Given the description of an element on the screen output the (x, y) to click on. 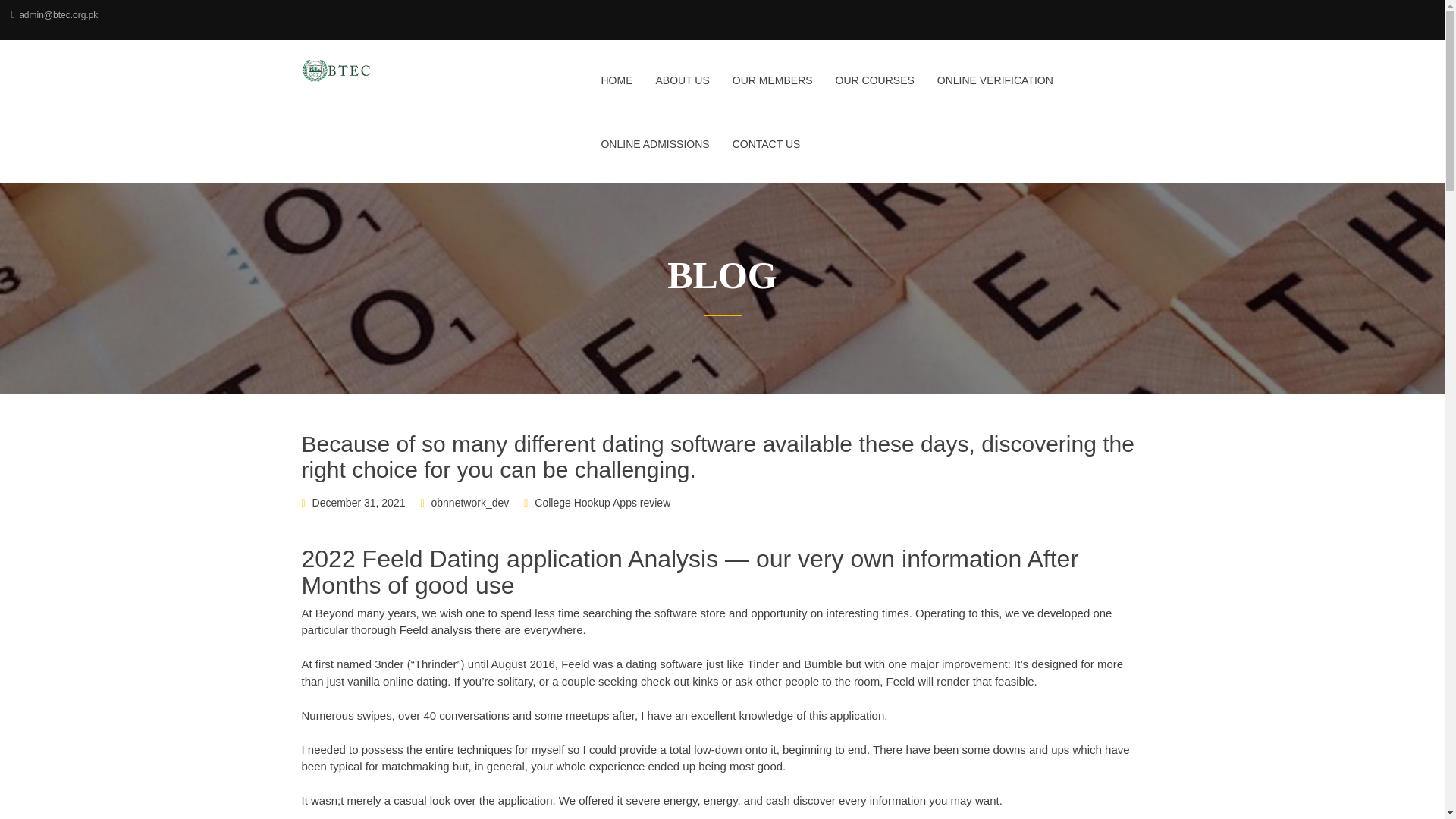
ONLINE VERIFICATION (995, 89)
BTEC (399, 70)
HOME (616, 89)
OUR MEMBERS (772, 89)
ABOUT US (681, 89)
December 31, 2021 (359, 502)
ONLINE ADMISSIONS (654, 153)
College Hookup Apps review (601, 502)
CONTACT US (760, 153)
OUR COURSES (875, 89)
